Given the description of an element on the screen output the (x, y) to click on. 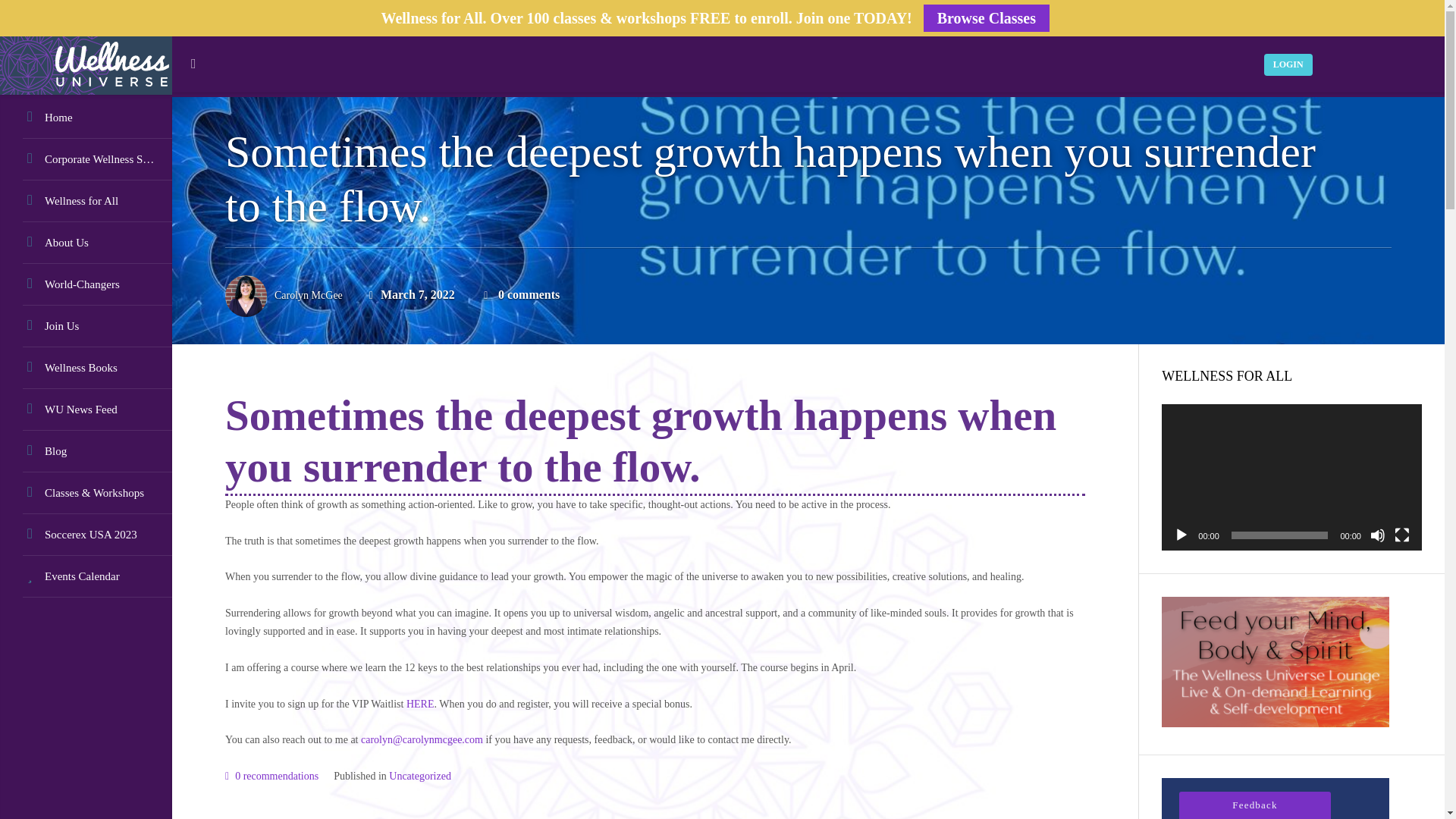
Mute (1378, 534)
Fullscreen (1401, 534)
Events Calendar (85, 576)
Recommend this article (271, 776)
Wellness for All (85, 200)
Wellness Books (85, 368)
About Us (85, 242)
Join Us (85, 326)
LOGIN (1288, 64)
Blog (85, 451)
Corporate Wellness Solutions (85, 159)
2:05 pm (411, 295)
WU News Feed (85, 409)
Play (1181, 534)
Browse Classes (986, 17)
